Given the description of an element on the screen output the (x, y) to click on. 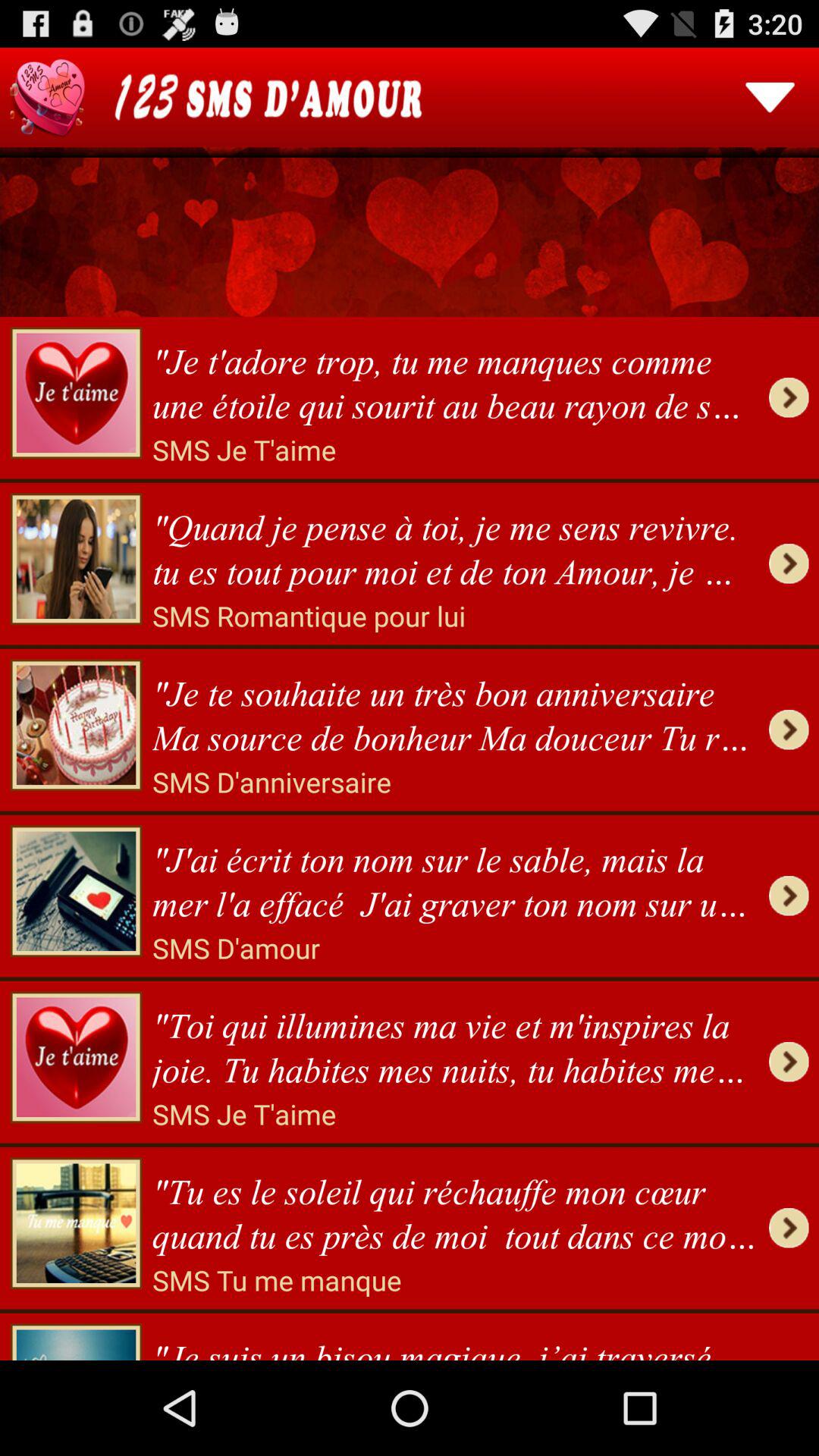
this button menu selection (770, 97)
